Given the description of an element on the screen output the (x, y) to click on. 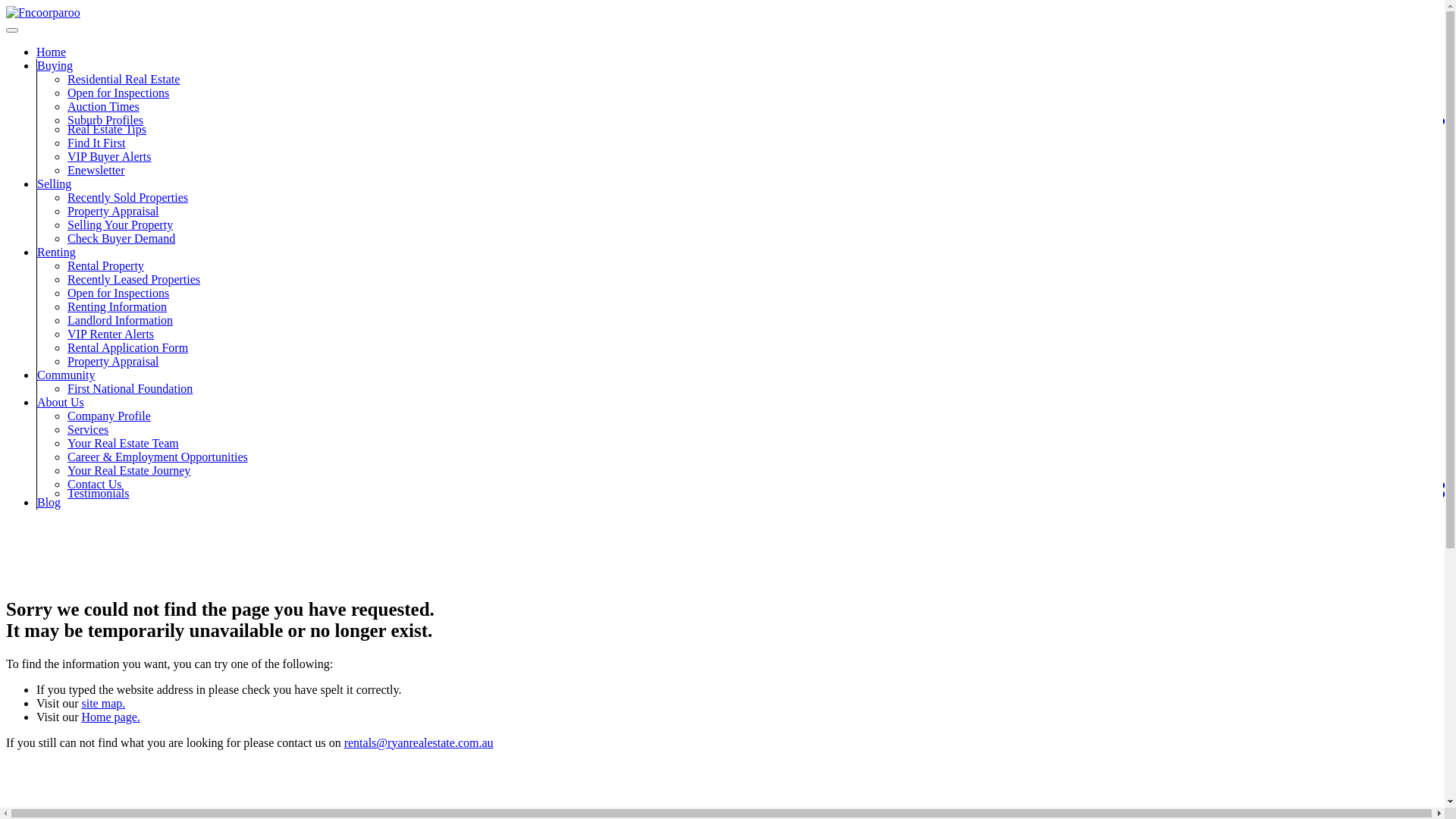
Rental Property Element type: text (105, 265)
Enewsletter Element type: text (96, 169)
Auction Times Element type: text (103, 106)
VIP Renter Alerts Element type: text (110, 333)
Services Element type: text (87, 429)
Your Real Estate Journey Element type: text (128, 470)
Property Appraisal Element type: text (112, 360)
Find It First Element type: text (96, 142)
Contact Us Element type: text (94, 483)
Community Element type: text (65, 374)
Selling Element type: text (54, 183)
site map. Element type: text (103, 702)
First National Foundation Element type: text (129, 388)
Renting Element type: text (56, 251)
rentals@ryanrealestate.com.au Element type: text (418, 741)
About Us Element type: text (60, 401)
VIP Buyer Alerts Element type: text (109, 156)
Recently Sold Properties Element type: text (127, 197)
Open for Inspections Element type: text (118, 292)
Recently Leased Properties Element type: text (133, 279)
Property Appraisal Element type: text (112, 210)
Home page. Element type: text (110, 715)
Real Estate Tips Element type: text (106, 128)
Open for Inspections Element type: text (118, 92)
Your Real Estate Team Element type: text (122, 442)
Testimonials Element type: text (98, 492)
Blog Element type: text (48, 501)
Landlord Information Element type: text (119, 319)
Suburb Profiles Element type: text (105, 119)
Check Buyer Demand Element type: text (121, 238)
Residential Real Estate Element type: text (123, 78)
Home Element type: text (50, 51)
Buying Element type: text (54, 65)
Rental Application Form Element type: text (127, 347)
Career & Employment Opportunities Element type: text (157, 456)
Renting Information Element type: text (116, 306)
Company Profile Element type: text (108, 415)
Selling Your Property Element type: text (119, 224)
